Given the description of an element on the screen output the (x, y) to click on. 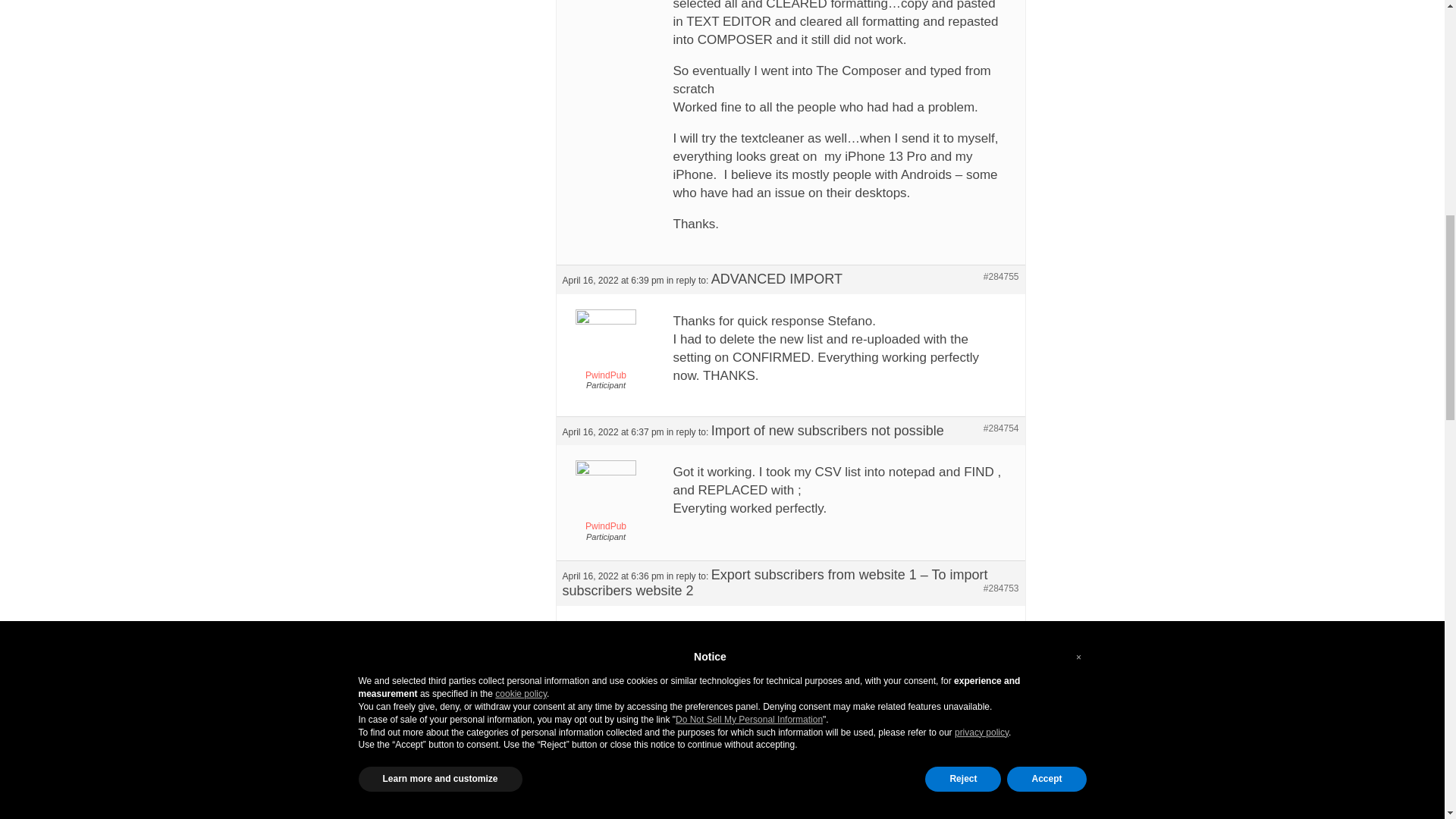
PwindPub (605, 348)
View PwindPub's profile (605, 348)
View PwindPub's profile (605, 660)
View PwindPub's profile (605, 498)
ADVANCED IMPORT (777, 278)
View PwindPub's profile (605, 795)
Import of new subscribers not possible (827, 430)
